Given the description of an element on the screen output the (x, y) to click on. 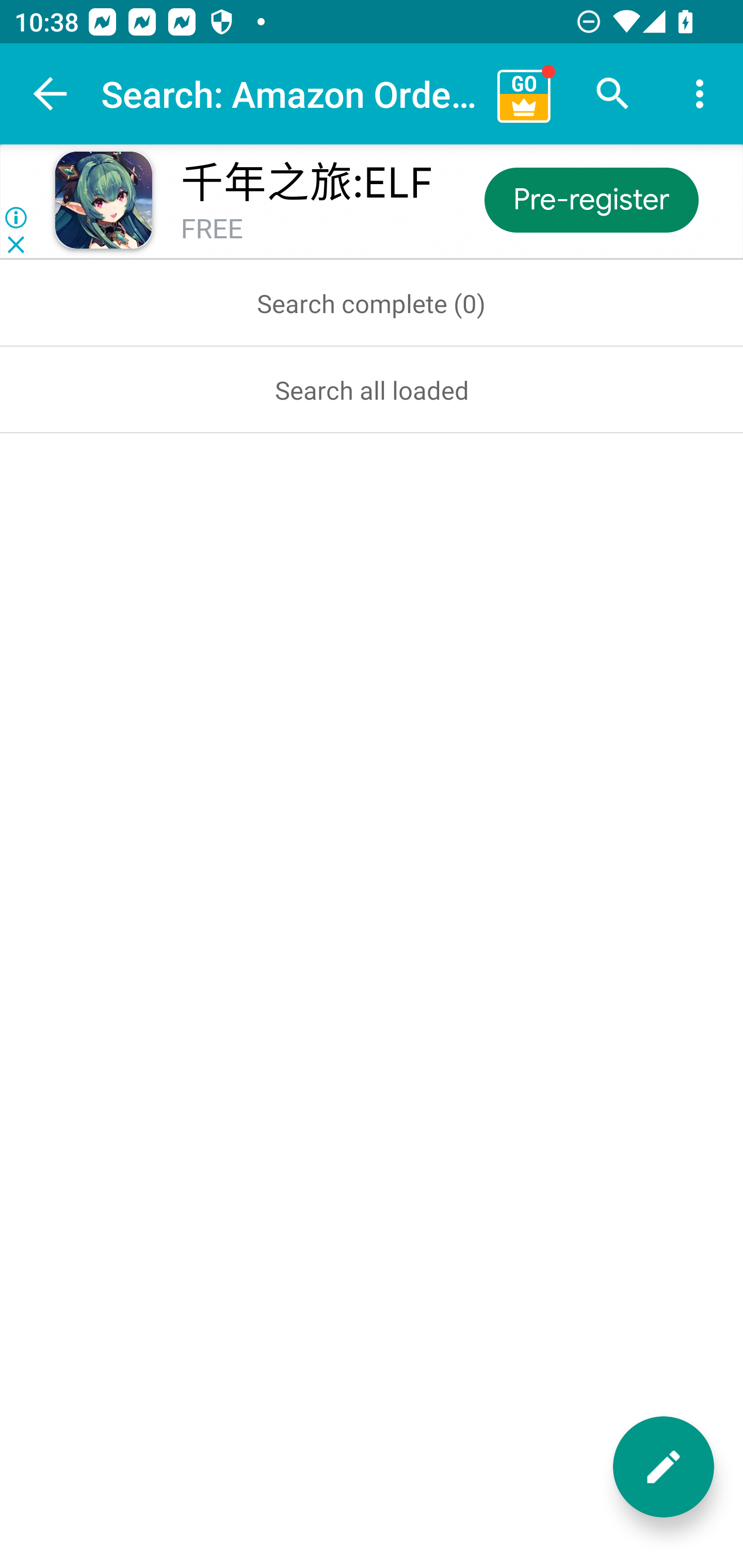
Navigate up (50, 93)
Search (612, 93)
More options (699, 93)
Search complete (0) (371, 303)
Search all loaded (371, 389)
New message (663, 1466)
